Given the description of an element on the screen output the (x, y) to click on. 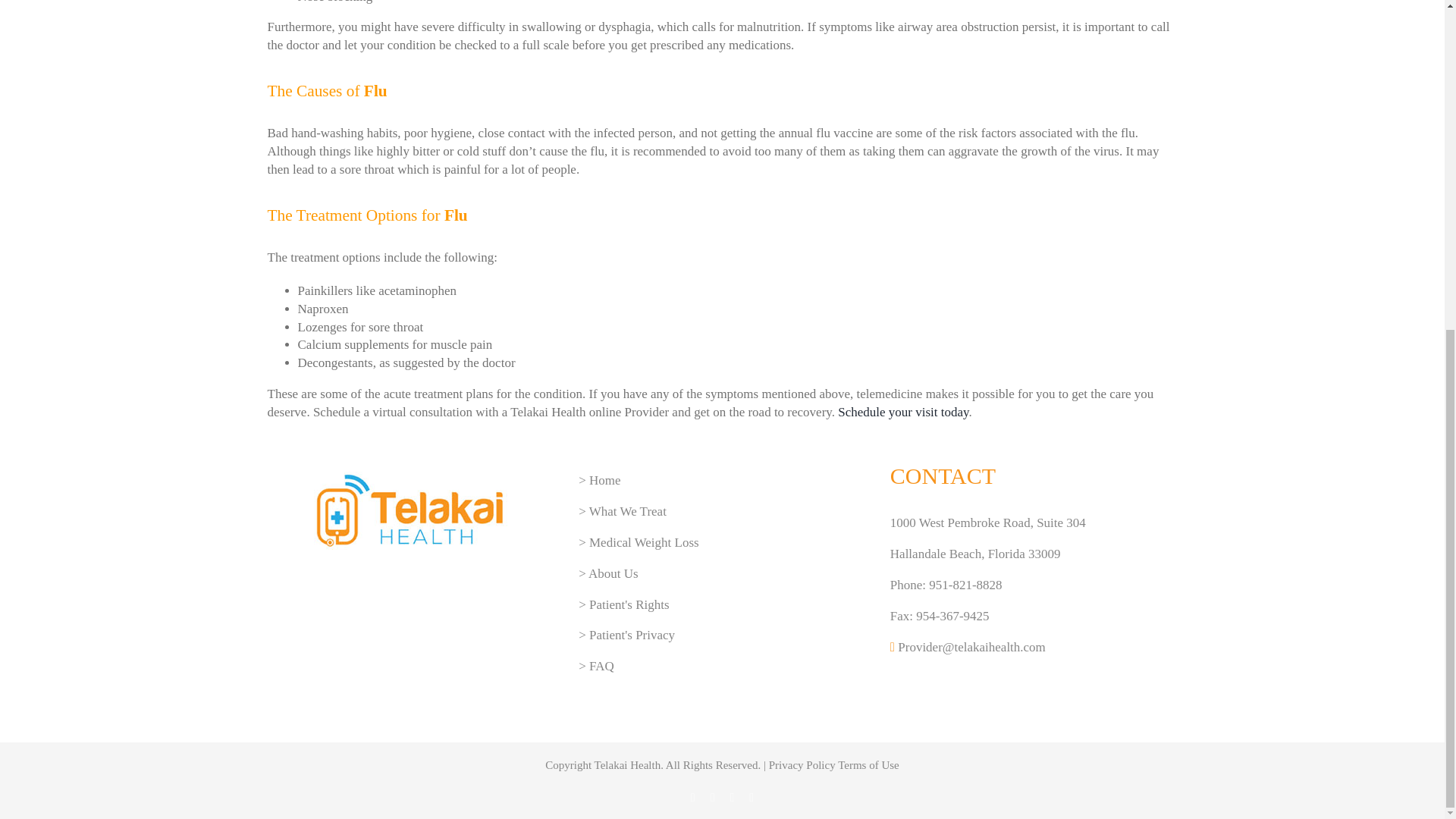
Home (605, 480)
Patient's Rights (629, 604)
About Us (613, 573)
FAQ (601, 666)
Terms of Use (868, 765)
Schedule your visit today (903, 411)
Patient's Privacy (632, 635)
Privacy Policy (801, 765)
Medical Weight Loss (643, 542)
What We Treat (627, 511)
